Given the description of an element on the screen output the (x, y) to click on. 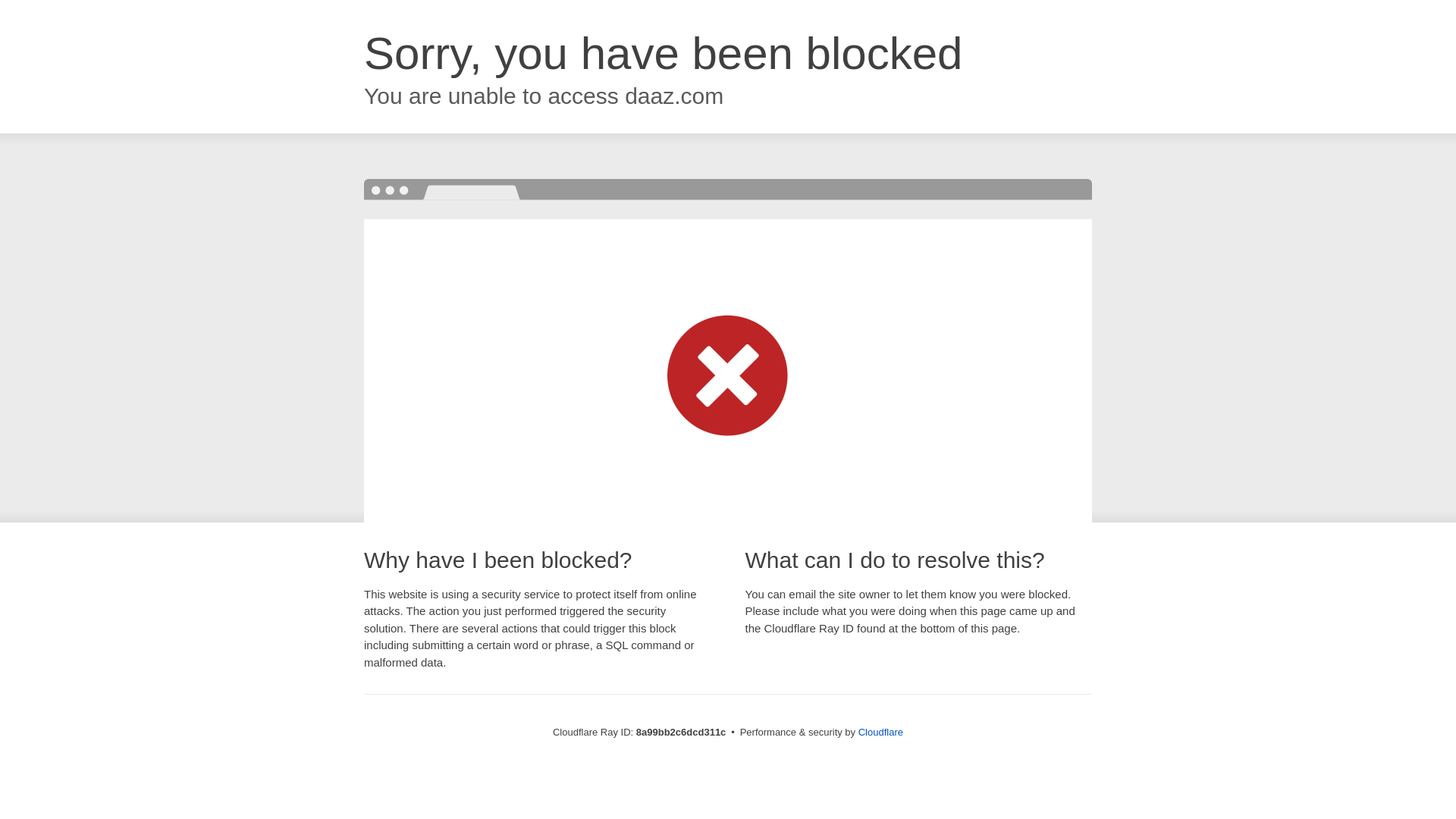
Cloudflare (880, 731)
